Given the description of an element on the screen output the (x, y) to click on. 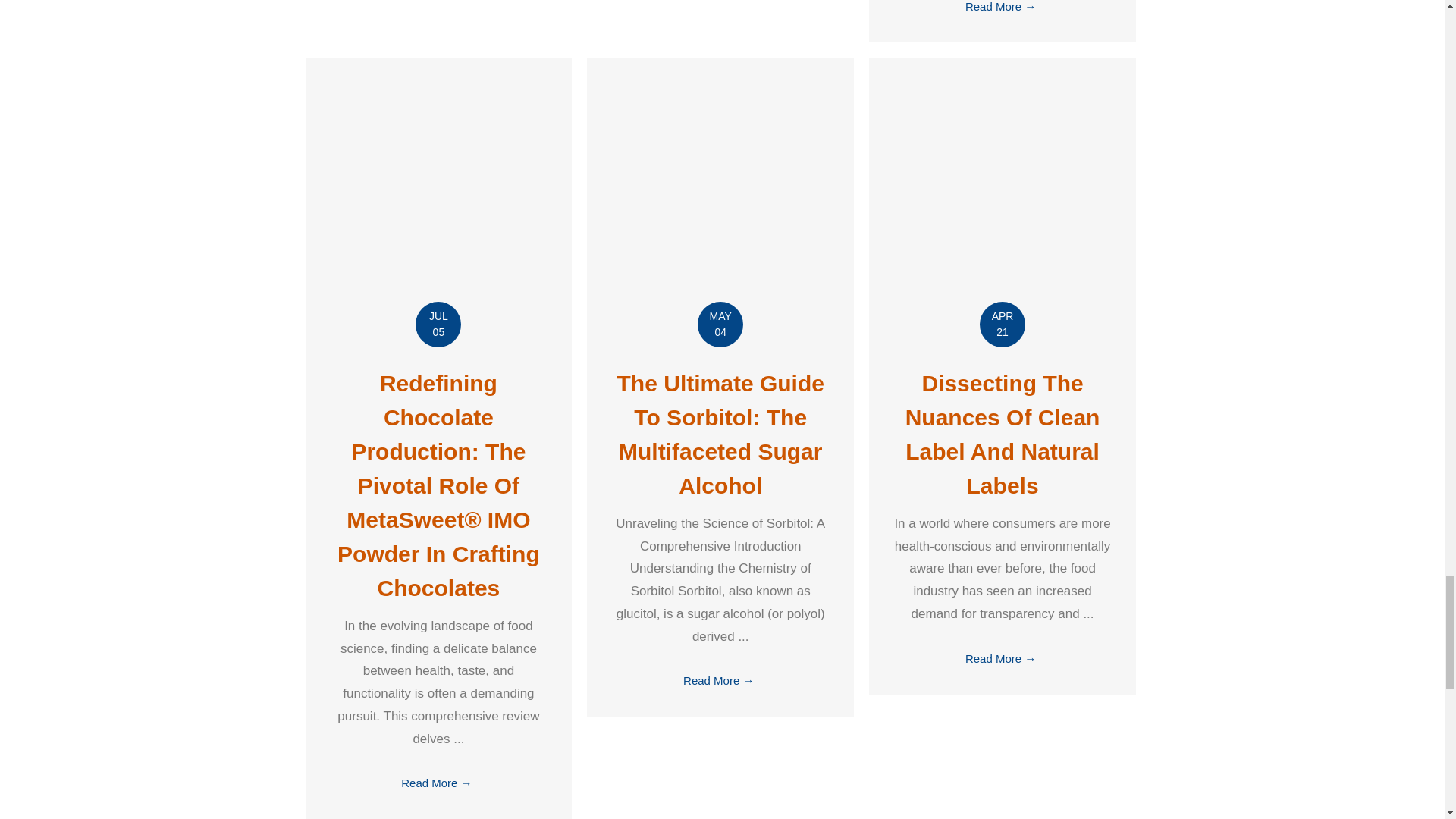
Dissecting the Nuances of Clean Label and Natural Labels (1002, 189)
